Given the description of an element on the screen output the (x, y) to click on. 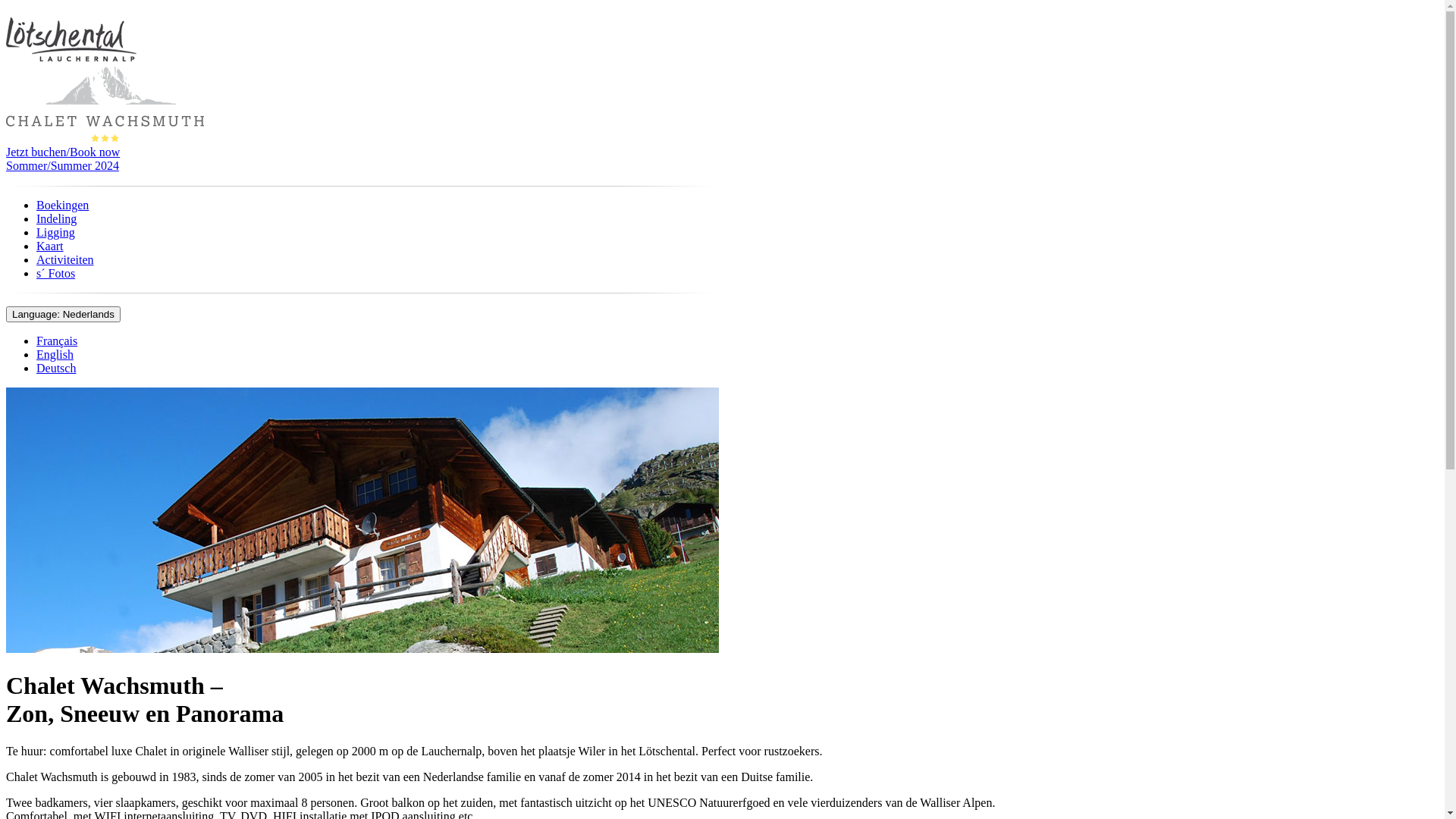
Willkommen im Chalet Wachsmuth Element type: hover (362, 519)
Indeling Element type: text (56, 218)
Kaart Element type: text (49, 245)
English Element type: text (54, 354)
Deutsch Element type: text (55, 367)
Ligging Element type: text (55, 231)
Boekingen Element type: text (62, 204)
Language: Nederlands Element type: text (63, 314)
Jetzt buchen/Book now
Sommer/Summer 2024 Element type: text (722, 158)
Activiteiten Element type: text (65, 259)
